Given the description of an element on the screen output the (x, y) to click on. 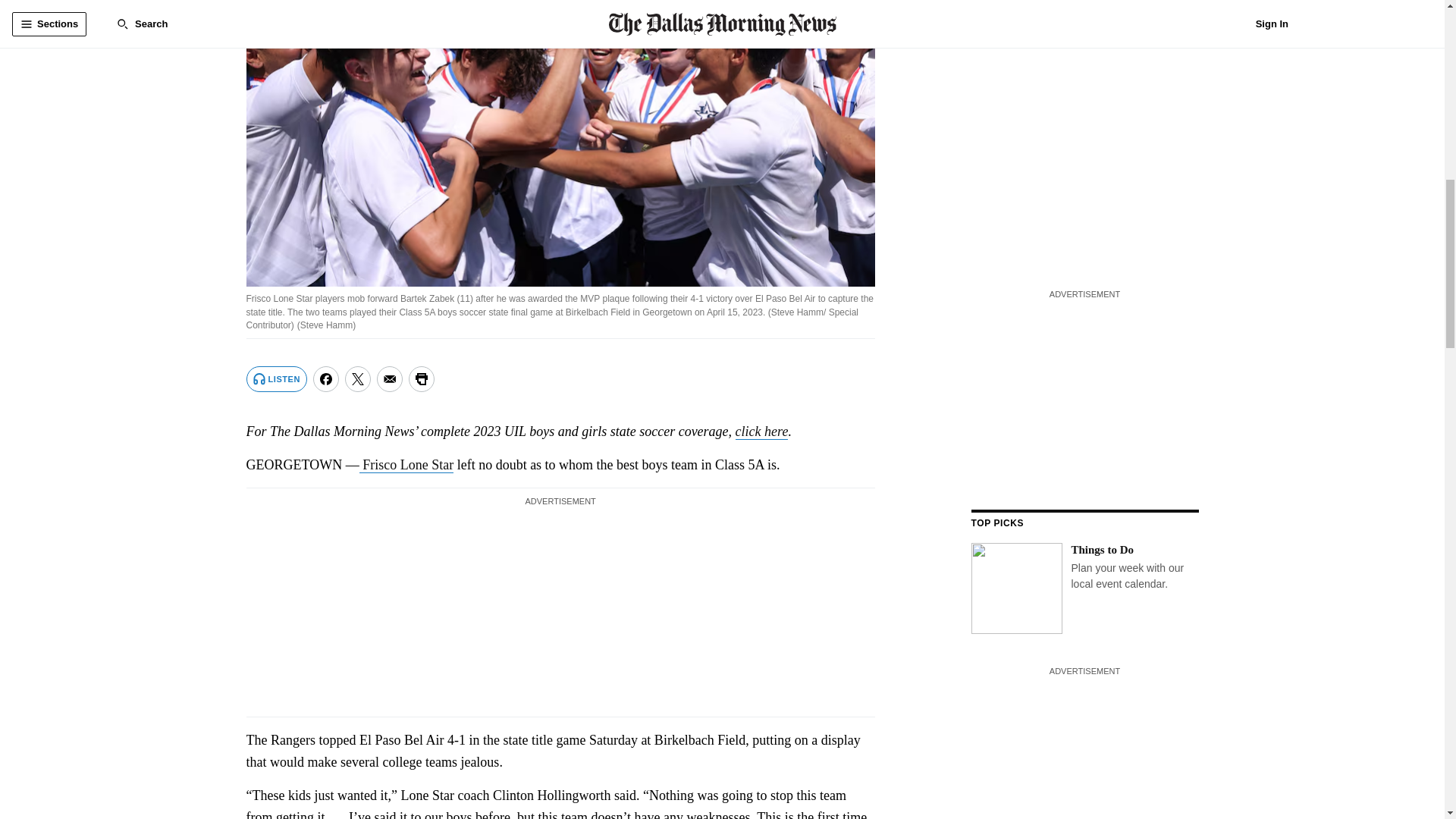
Share on Facebook (326, 379)
Share via Email (390, 379)
Share on Twitter (358, 379)
Print (421, 379)
